Given the description of an element on the screen output the (x, y) to click on. 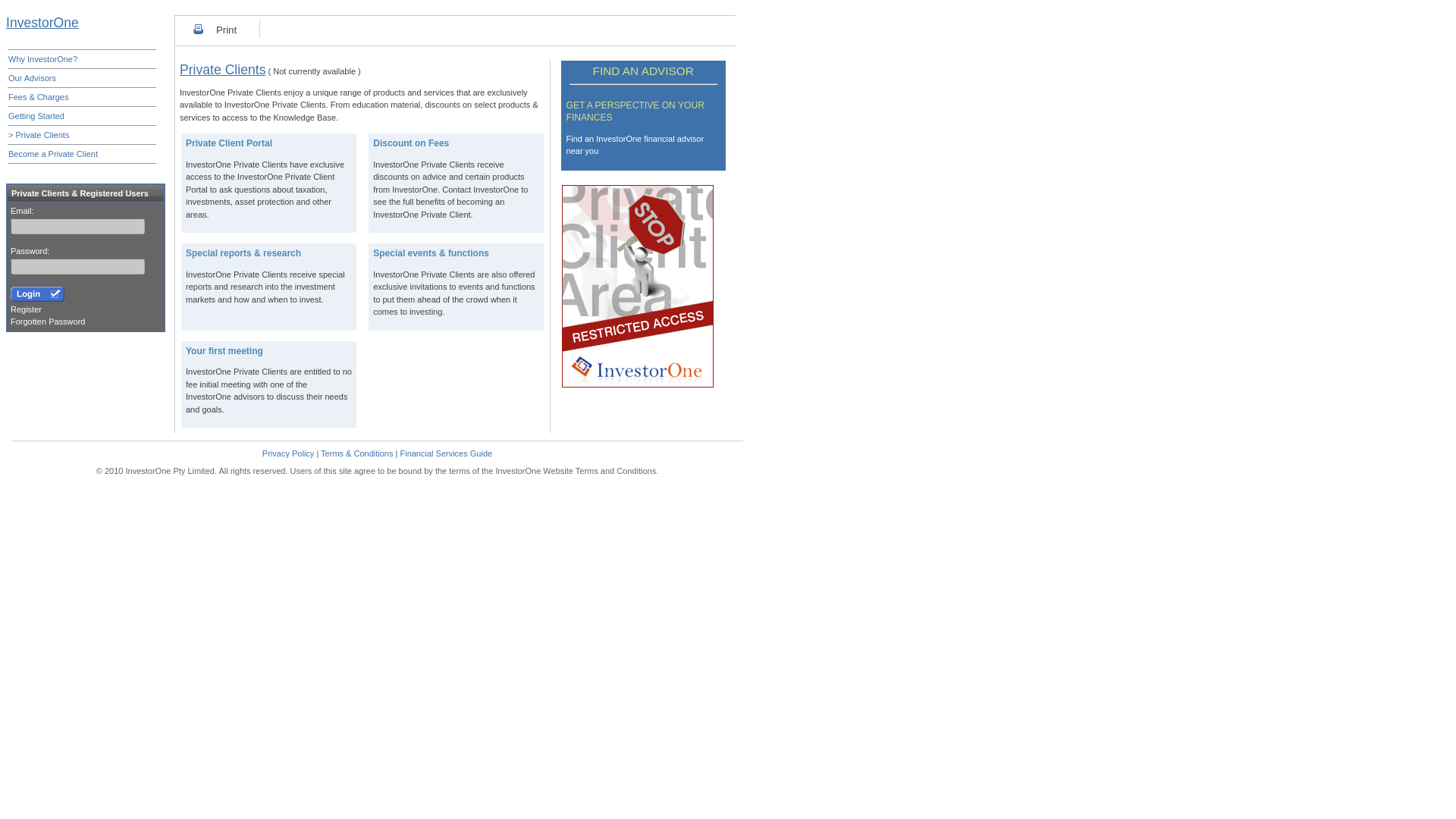
Forgotten Password (47, 320)
Find an InvestorOne financial advisor near you (635, 145)
Our Advisors (80, 77)
Why InvestorOne? (80, 58)
Register (26, 308)
Privacy Policy (288, 452)
Become a Private Client (80, 153)
Print (225, 30)
Financial Services Guide (445, 452)
Getting Started (80, 115)
